Given the description of an element on the screen output the (x, y) to click on. 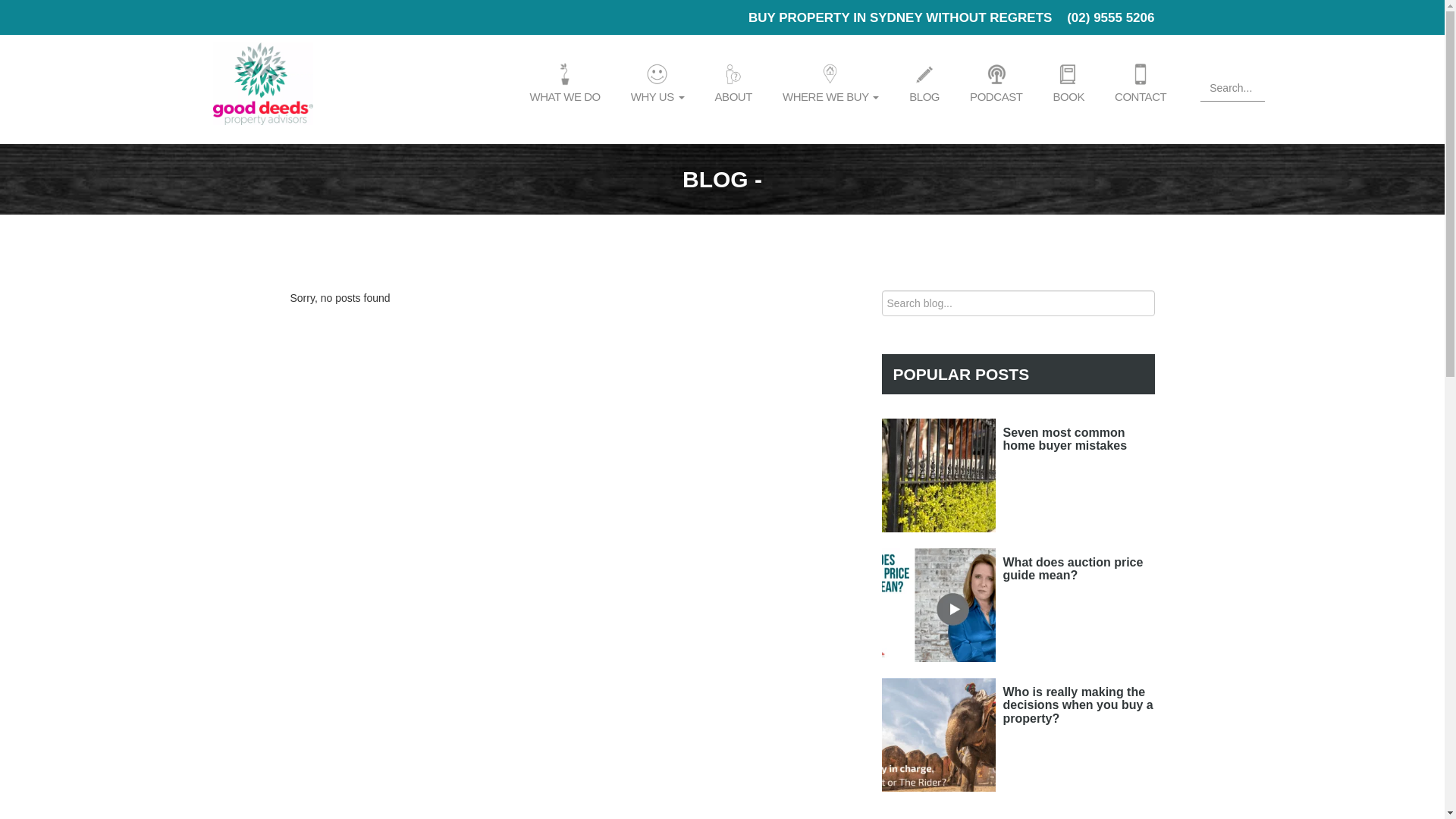
WHERE WE BUY Element type: text (830, 83)
BOOK Element type: text (1068, 83)
Who is really making the decisions when you buy a property? Element type: text (1077, 704)
WHY US Element type: text (657, 83)
BLOG Element type: text (924, 83)
What does auction price guide mean? Element type: text (1072, 568)
PODCAST Element type: text (995, 83)
(02) 9555 5206 Element type: text (1110, 17)
CONTACT Element type: text (1140, 83)
Search Element type: text (1140, 303)
WHAT WE DO Element type: text (564, 83)
Seven most common home buyer mistakes Element type: text (1064, 439)
ABOUT Element type: text (733, 83)
